Given the description of an element on the screen output the (x, y) to click on. 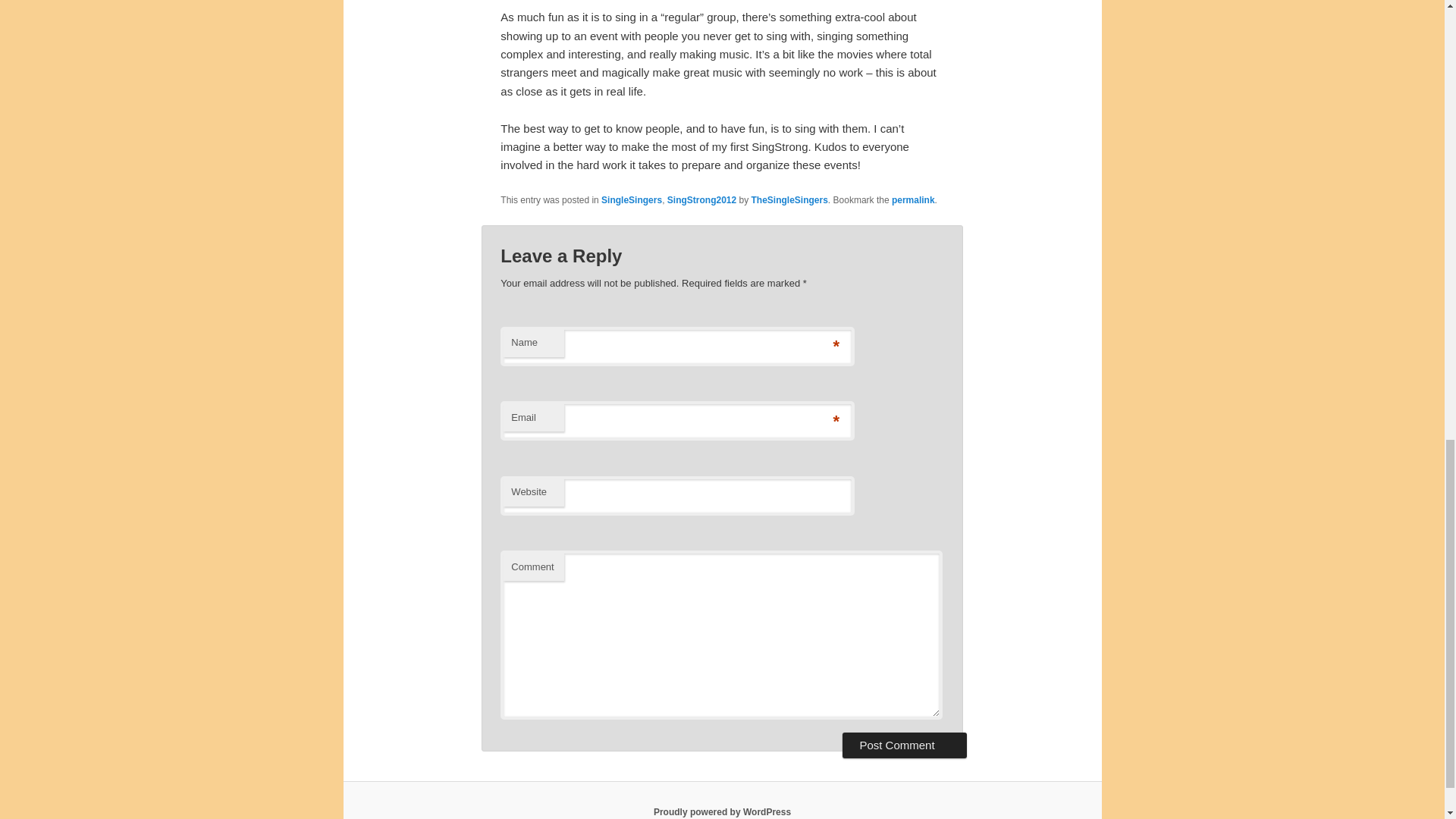
Semantic Personal Publishing Platform (721, 811)
SingleSingers (631, 199)
View all posts in SingStrong2012 (701, 199)
TheSingleSingers (789, 199)
Post Comment (904, 745)
Post Comment (904, 745)
Proudly powered by WordPress (721, 811)
SingStrong2012 (701, 199)
permalink (912, 199)
View all posts in SingleSingers (631, 199)
Permalink to Arrive and sing at my first SingStrong (912, 199)
